Given the description of an element on the screen output the (x, y) to click on. 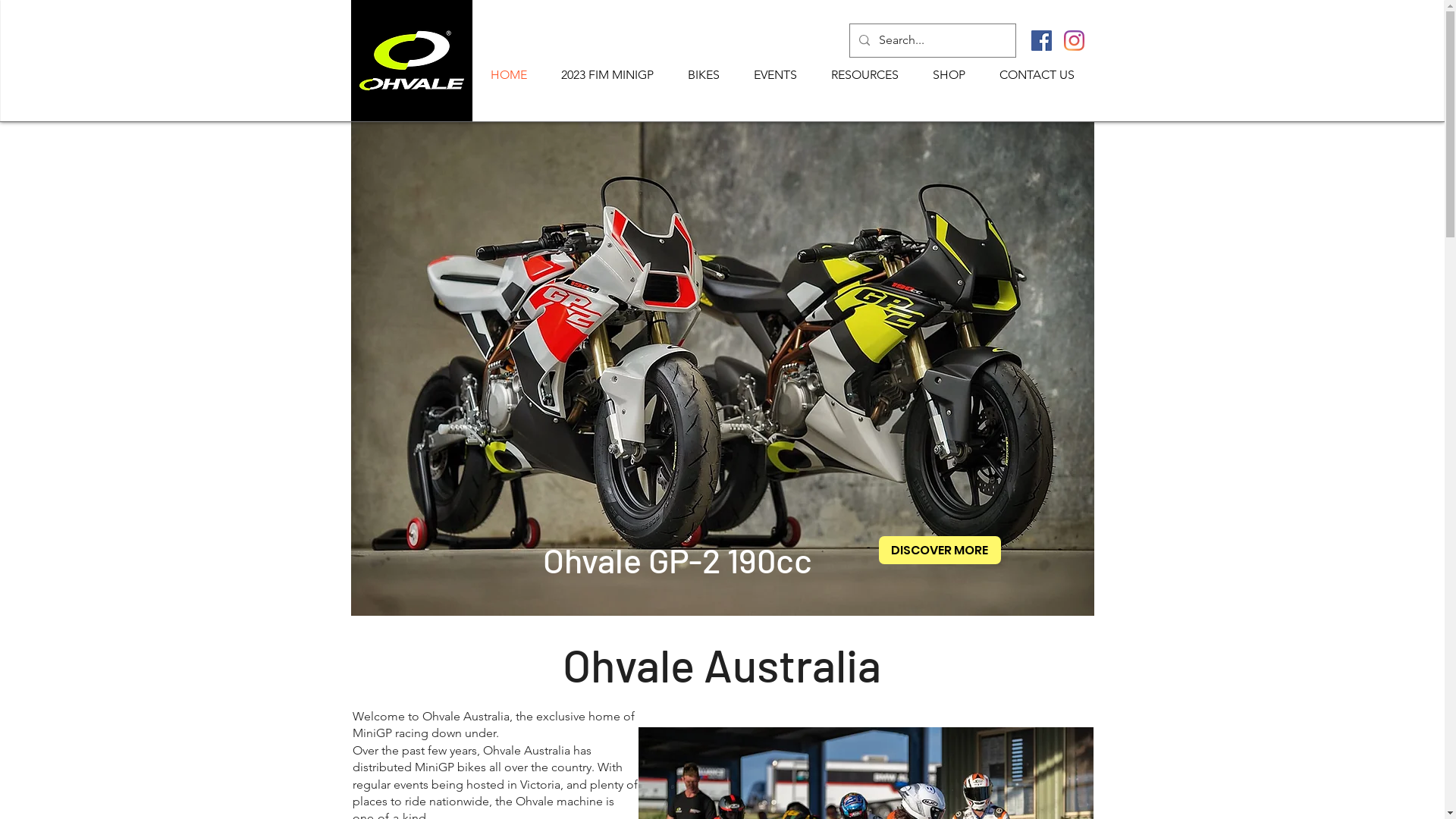
CONTACT US Element type: text (1037, 75)
2023 FIM MINIGP Element type: text (607, 75)
SHOP Element type: text (949, 75)
EVENTS Element type: text (775, 75)
DISCOVER MORE Element type: text (939, 550)
BIKES Element type: text (703, 75)
RESOURCES Element type: text (865, 75)
HOME Element type: text (508, 75)
